Given the description of an element on the screen output the (x, y) to click on. 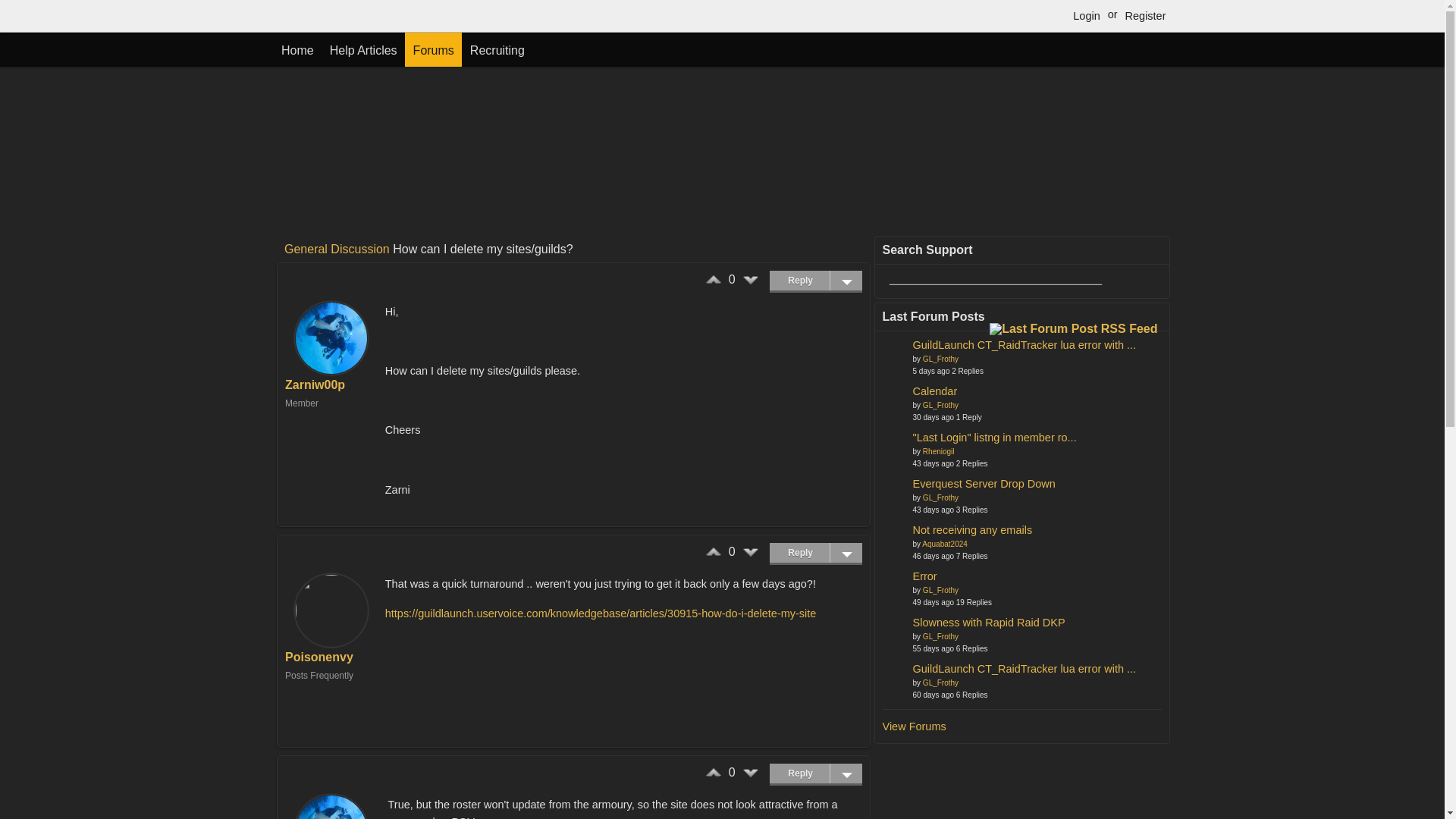
Zarniw00p (315, 383)
Down Vote (750, 279)
Login (1085, 15)
Go To Last Unread Post (994, 436)
General Discussion (336, 248)
Go To Last Unread Post (1024, 344)
Up Vote (713, 772)
Register (1145, 15)
Register for an Account (1145, 15)
Help Articles (362, 48)
Up Vote (713, 279)
Down Vote (750, 551)
Recruiting (496, 48)
Go To Last Unread Post (935, 390)
Login to this Site (1085, 15)
